Given the description of an element on the screen output the (x, y) to click on. 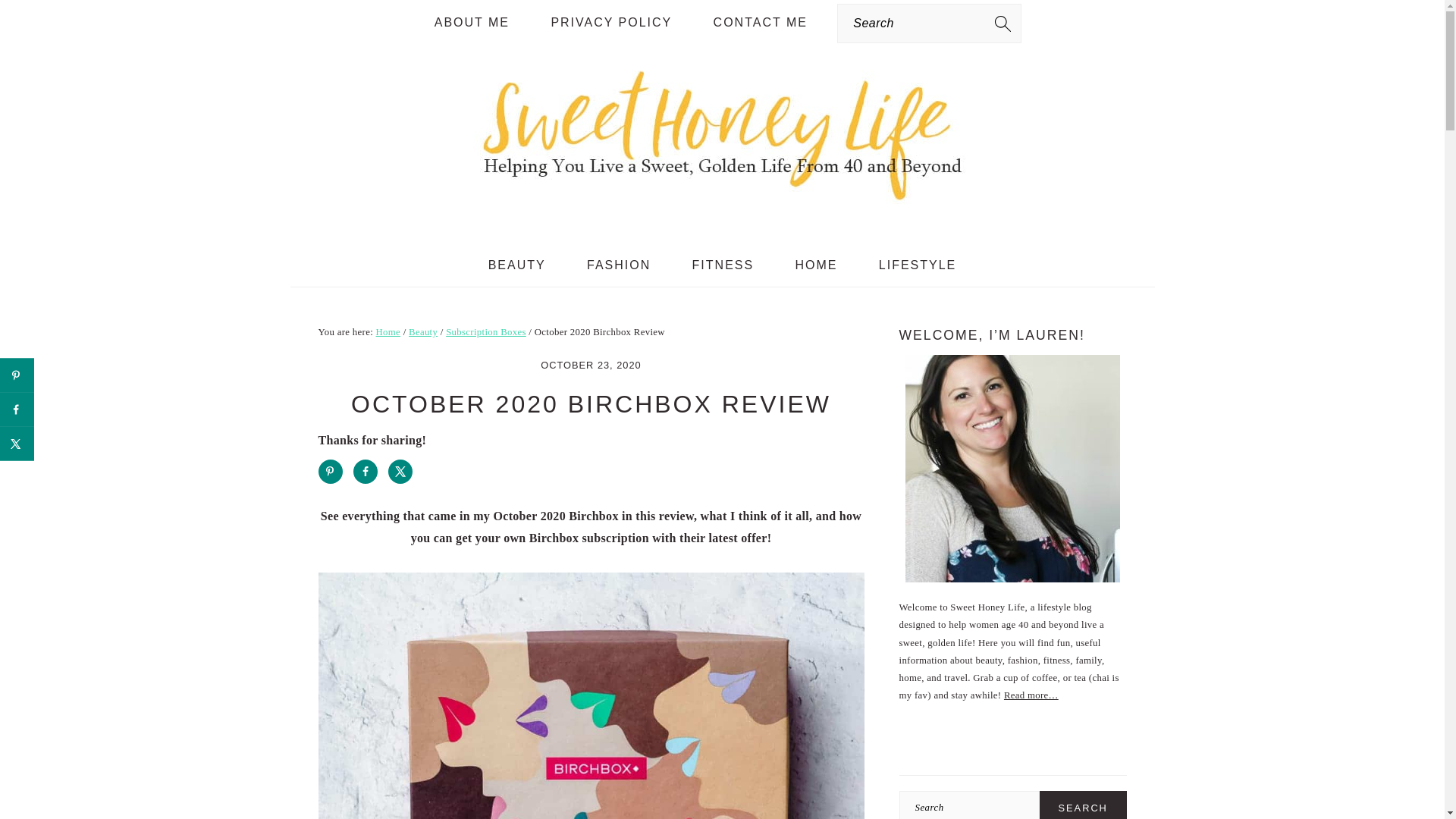
HOME (816, 265)
Home (388, 331)
LIFESTYLE (917, 265)
Share on X (400, 471)
CONTACT ME (760, 22)
BEAUTY (516, 265)
Beauty (423, 331)
Subscription Boxes (485, 331)
Sweet Honey Life (721, 212)
Sweet Honey Life (721, 133)
Search (1082, 805)
PRIVACY POLICY (610, 22)
Save to Pinterest (330, 471)
Search (1082, 805)
